Given the description of an element on the screen output the (x, y) to click on. 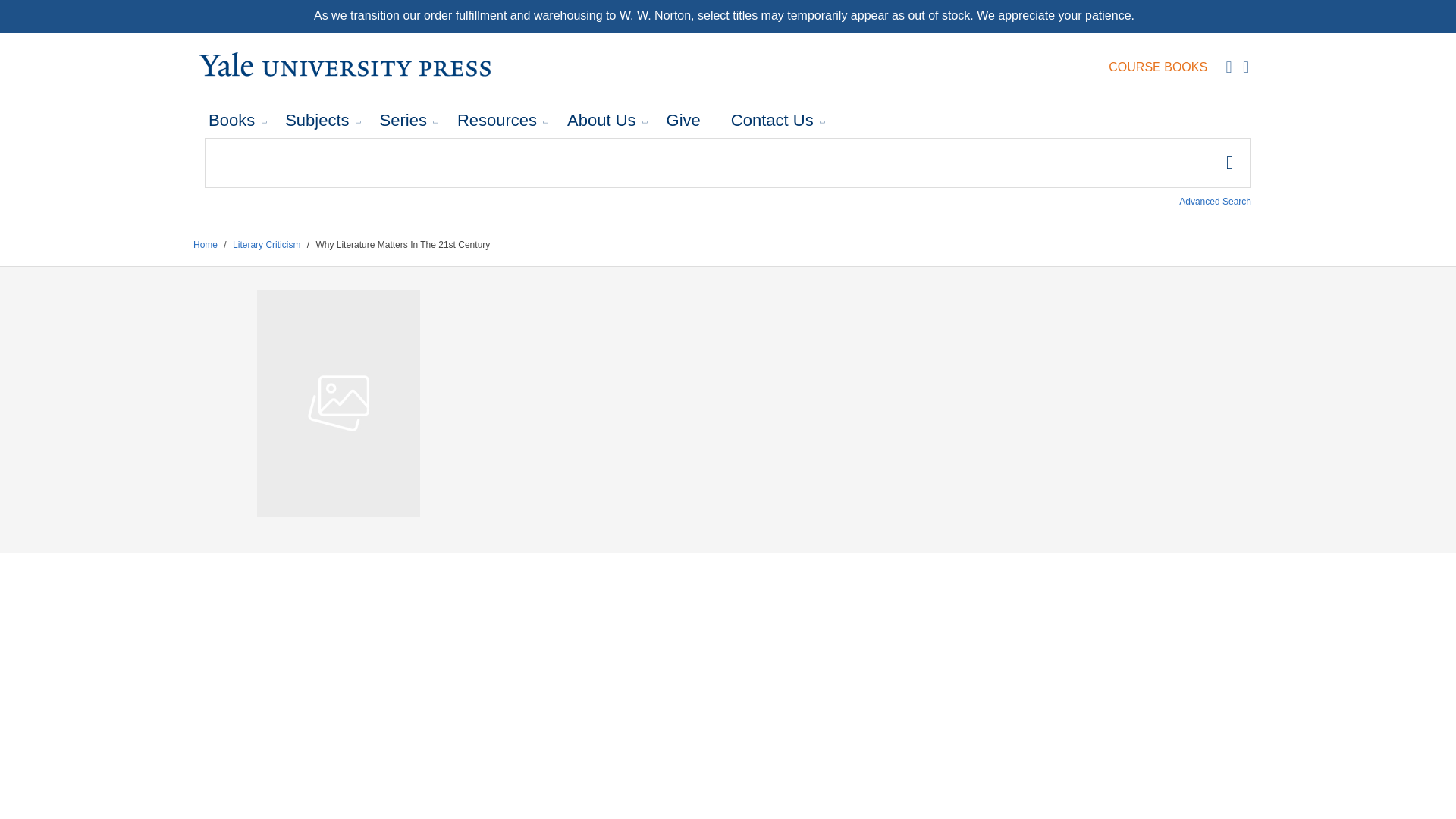
: (727, 163)
Books (231, 120)
Subjects (316, 120)
Back to homepage (204, 244)
Series (403, 120)
COURSE BOOKS (1157, 67)
Course Books Page (1157, 67)
View results for literary criticism (265, 244)
